Given the description of an element on the screen output the (x, y) to click on. 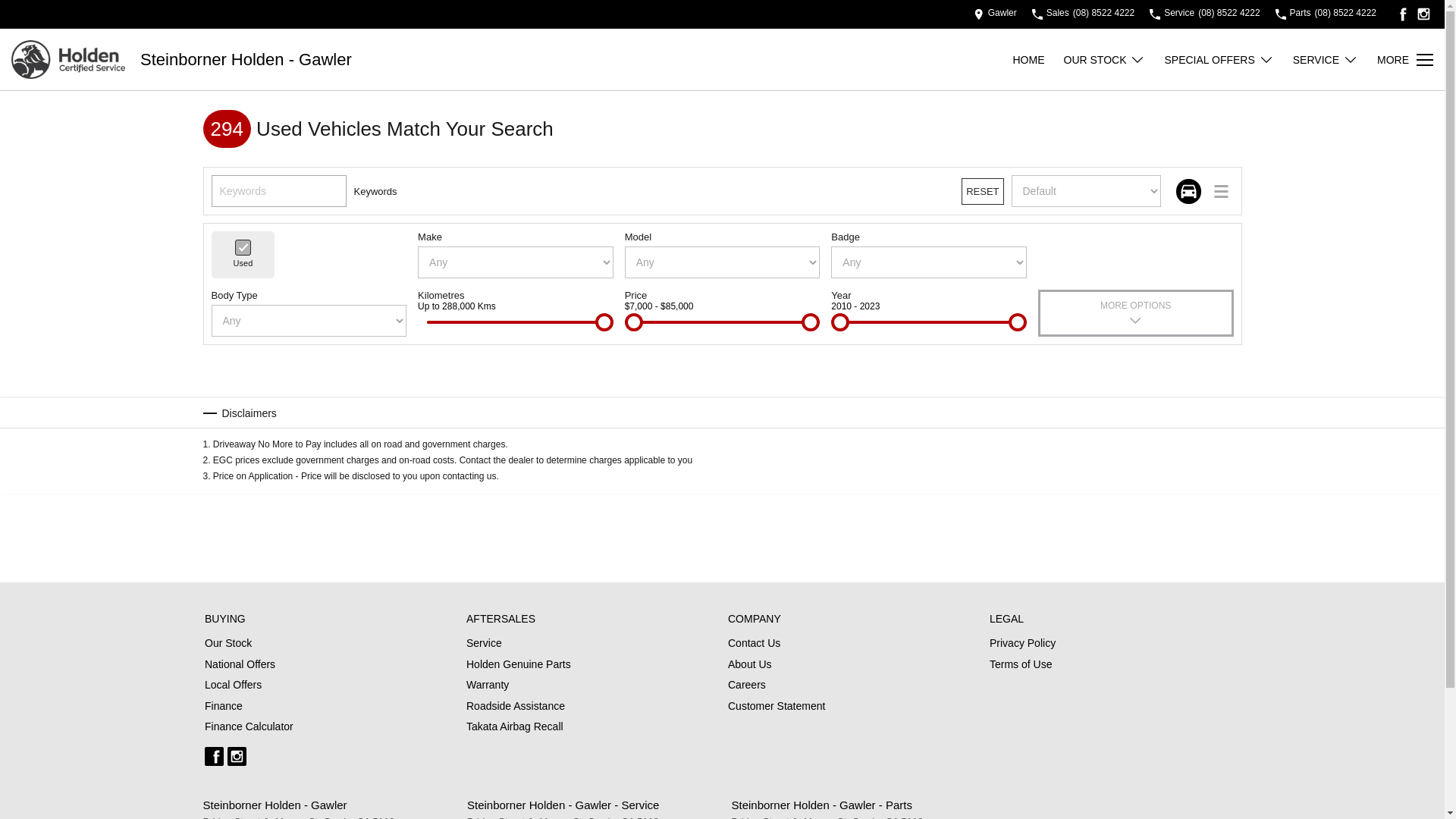
HOME (1029, 59)
Gawler (995, 13)
Steinborner Holden - Gawler (245, 59)
SPECIAL OFFERS (1217, 59)
OUR STOCK (1103, 59)
Used (242, 247)
SERVICE (1325, 59)
